Given the description of an element on the screen output the (x, y) to click on. 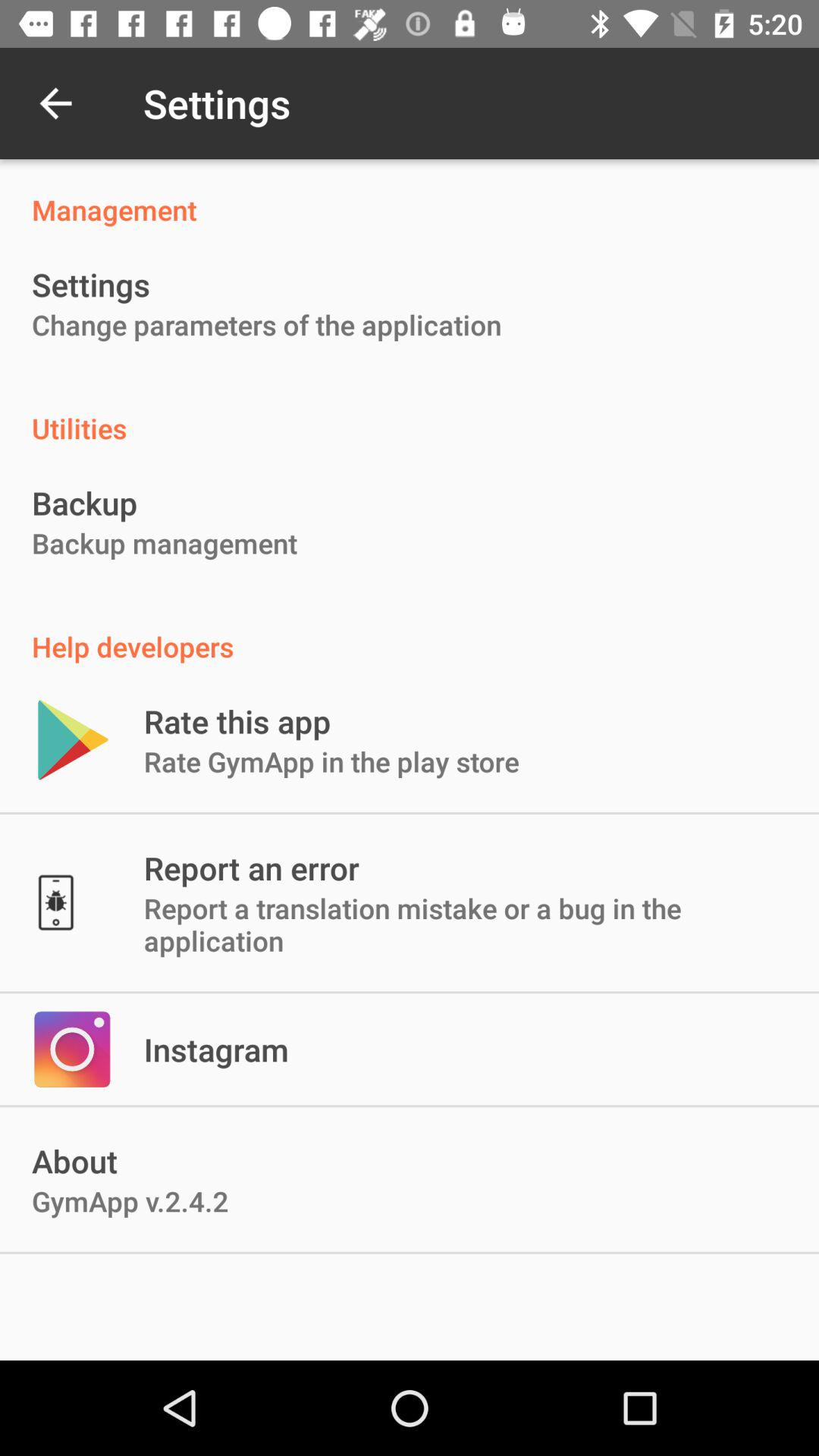
launch the change parameters of (266, 324)
